Given the description of an element on the screen output the (x, y) to click on. 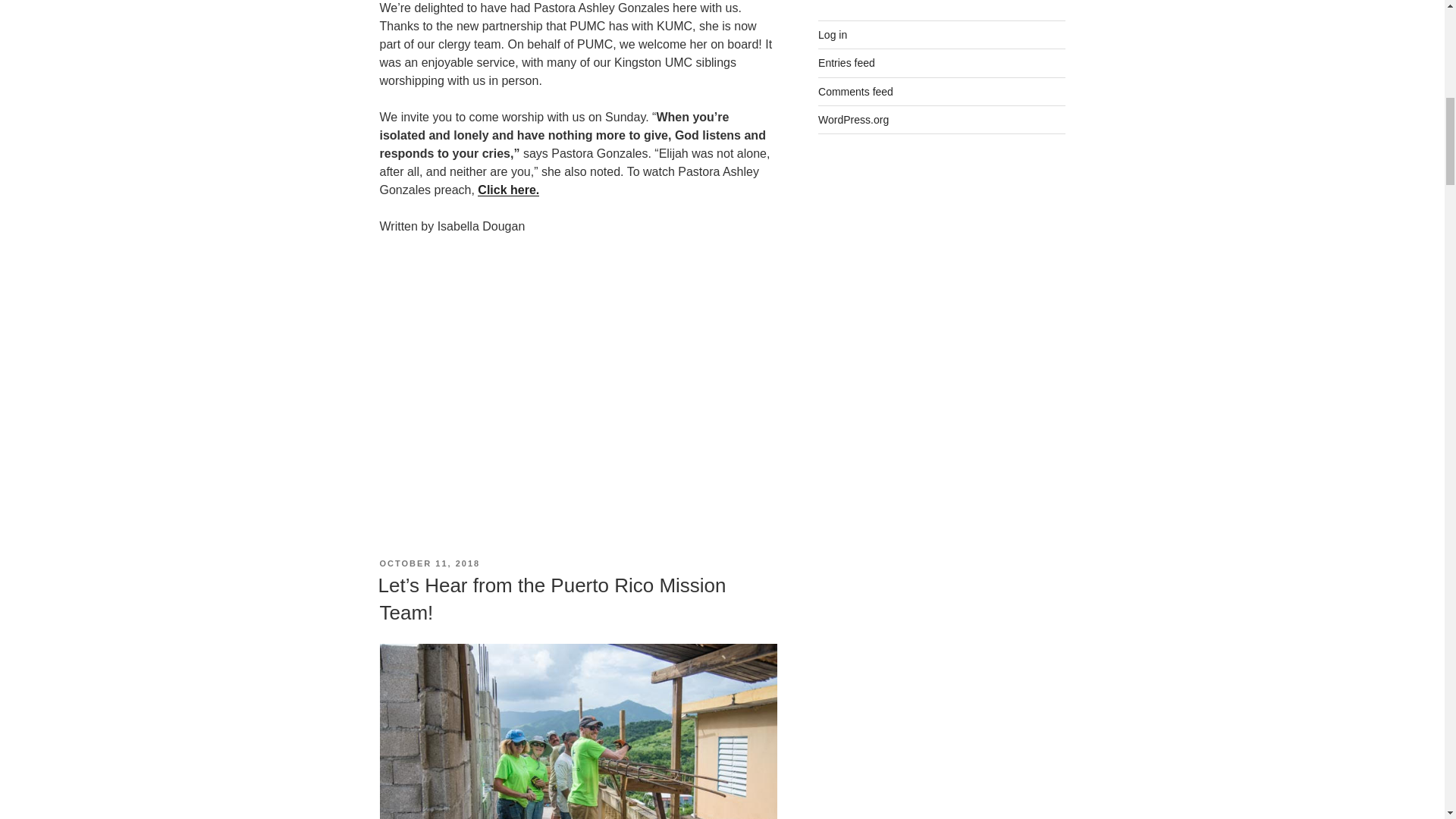
WordPress.org (853, 119)
Log in (832, 34)
Entries feed (846, 62)
OCTOBER 11, 2018 (429, 563)
Click here. (507, 189)
Comments feed (855, 91)
